Given the description of an element on the screen output the (x, y) to click on. 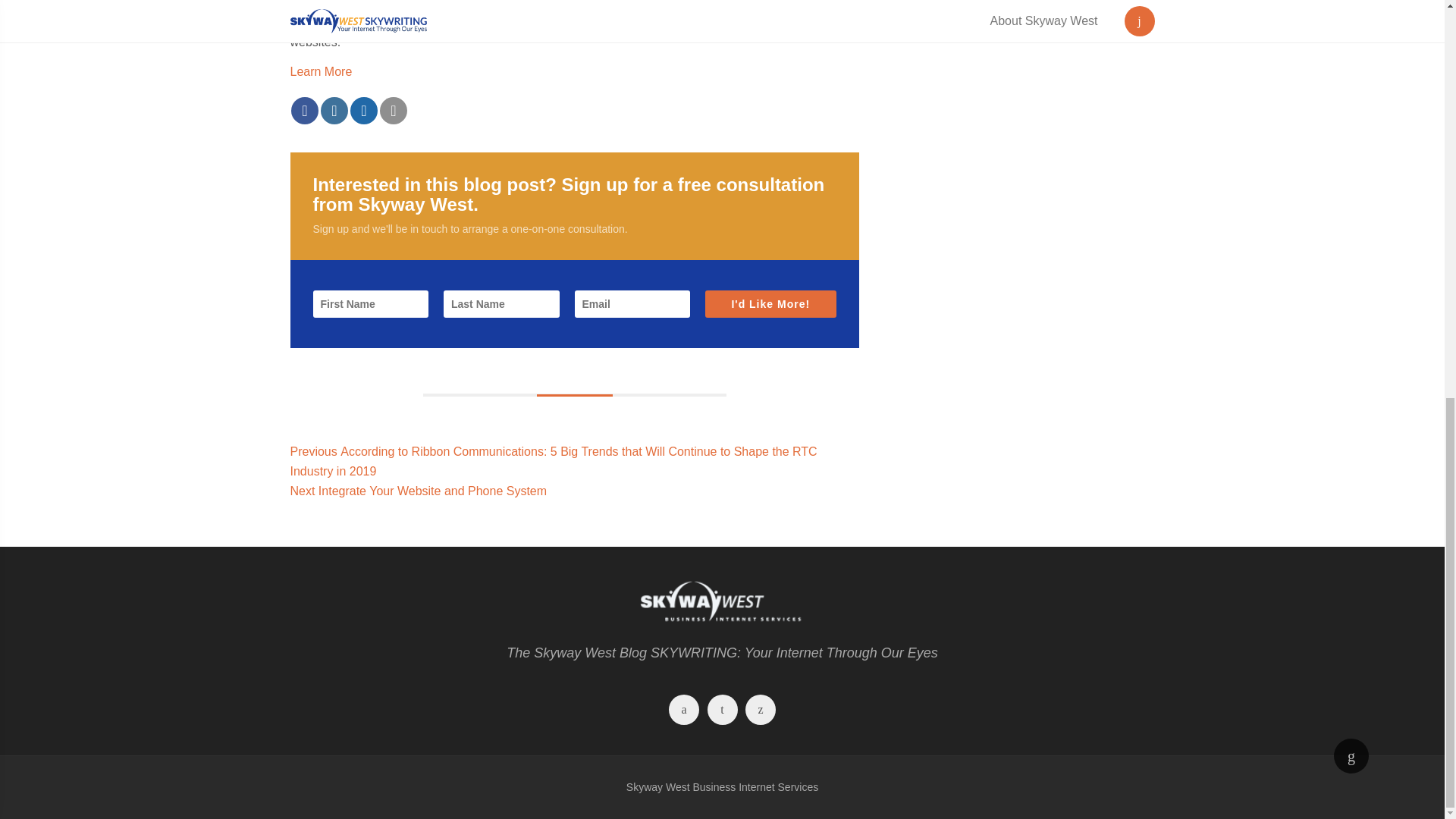
Linkedin (759, 711)
Youtube (721, 711)
To top (418, 490)
Share on Digg (1350, 755)
Facebook (363, 110)
Youtube (683, 711)
I'd Like More! (721, 711)
To top (769, 303)
Learn More (1350, 755)
Facebook (320, 71)
Linkedin (683, 711)
Share on Facebook (759, 711)
Share on LinkedIn (304, 110)
